Given the description of an element on the screen output the (x, y) to click on. 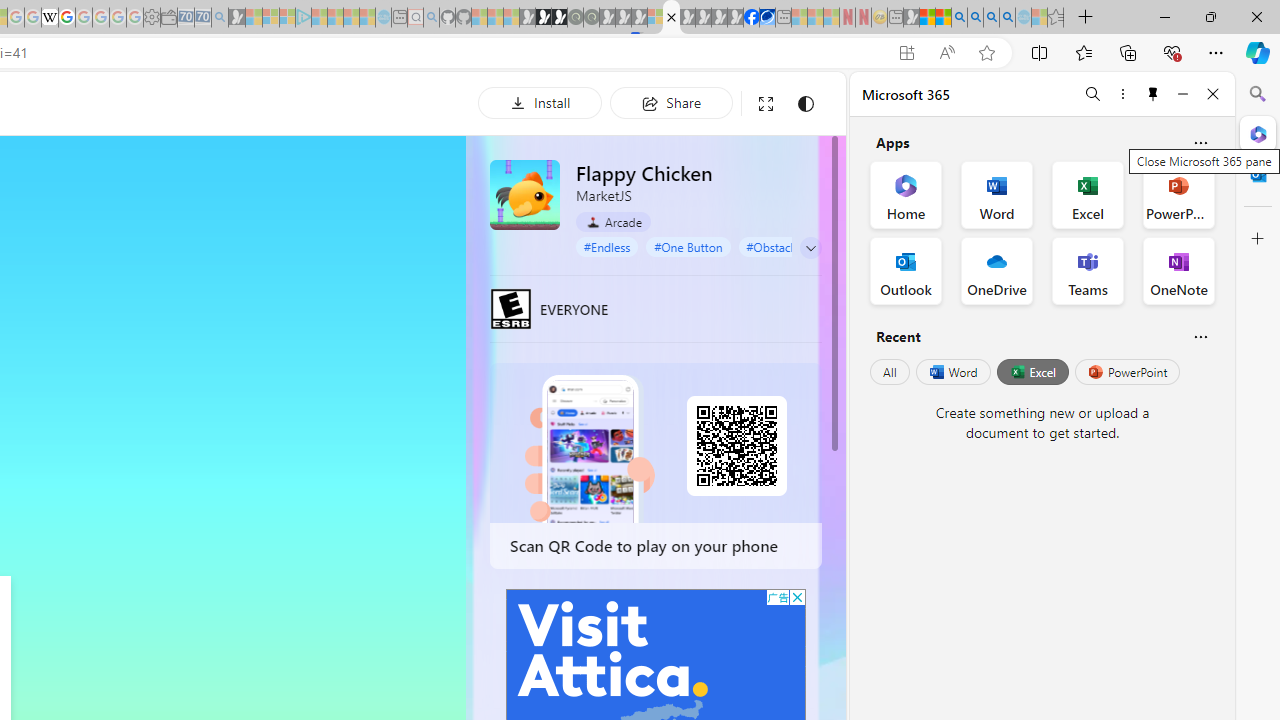
Bing AI - Search (959, 17)
Close Microsoft 365 pane (1258, 133)
Install (540, 102)
Is this helpful? (1200, 336)
Arcade (613, 222)
PowerPoint (1127, 372)
#Endless (607, 246)
